Given the description of an element on the screen output the (x, y) to click on. 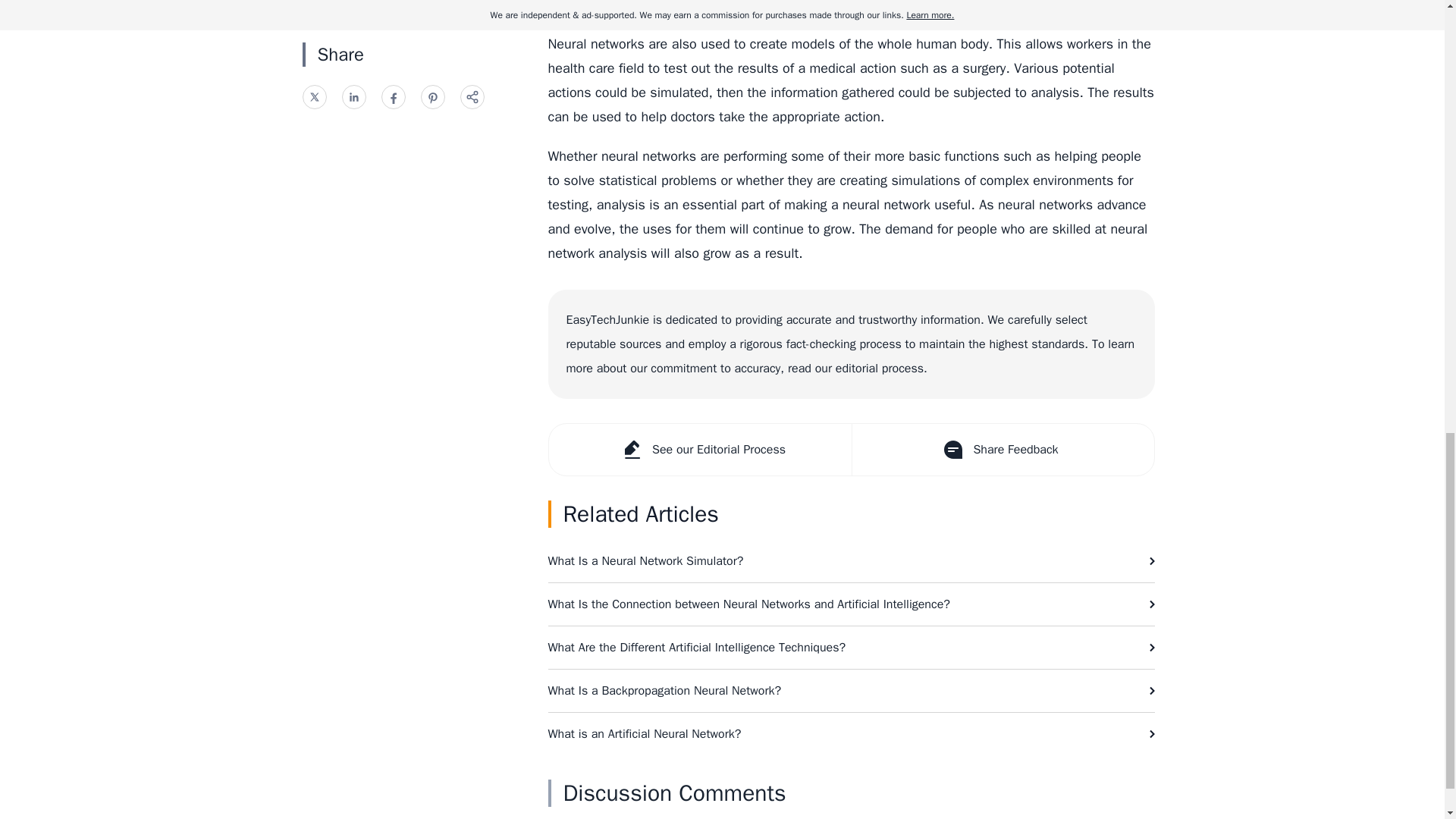
What Is a Backpropagation Neural Network? (850, 690)
What Is a Neural Network Simulator? (850, 560)
See our Editorial Process (699, 449)
What is an Artificial Neural Network? (850, 733)
What Are the Different Artificial Intelligence Techniques? (850, 647)
Share Feedback (1001, 449)
